Given the description of an element on the screen output the (x, y) to click on. 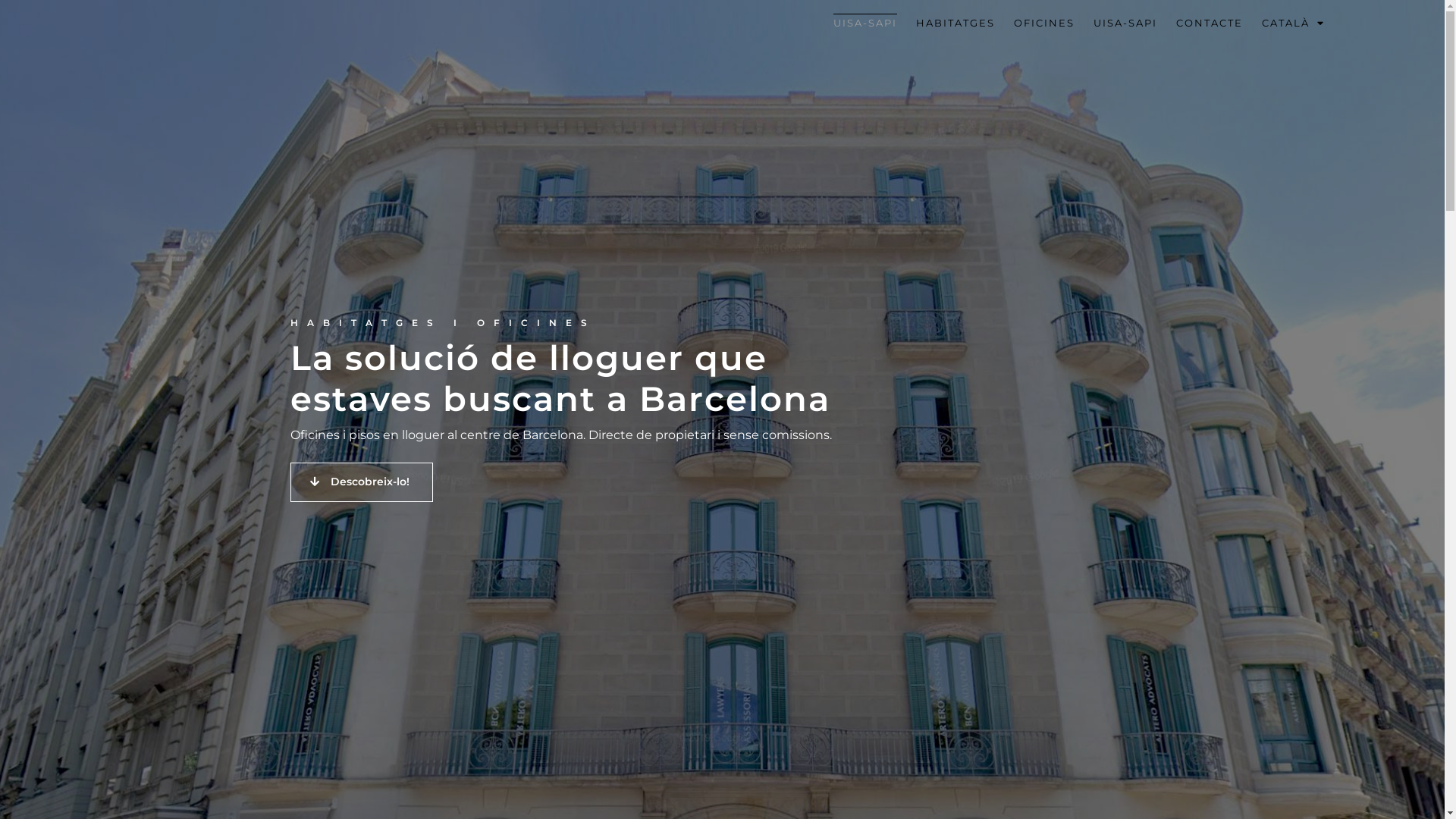
Descobreix-lo! Element type: text (360, 482)
UISA-SAPI Element type: text (865, 22)
HABITATGES Element type: text (955, 22)
UISA-SAPI Element type: text (1125, 22)
OFICINES Element type: text (1043, 22)
CONTACTE Element type: text (1209, 22)
